Given the description of an element on the screen output the (x, y) to click on. 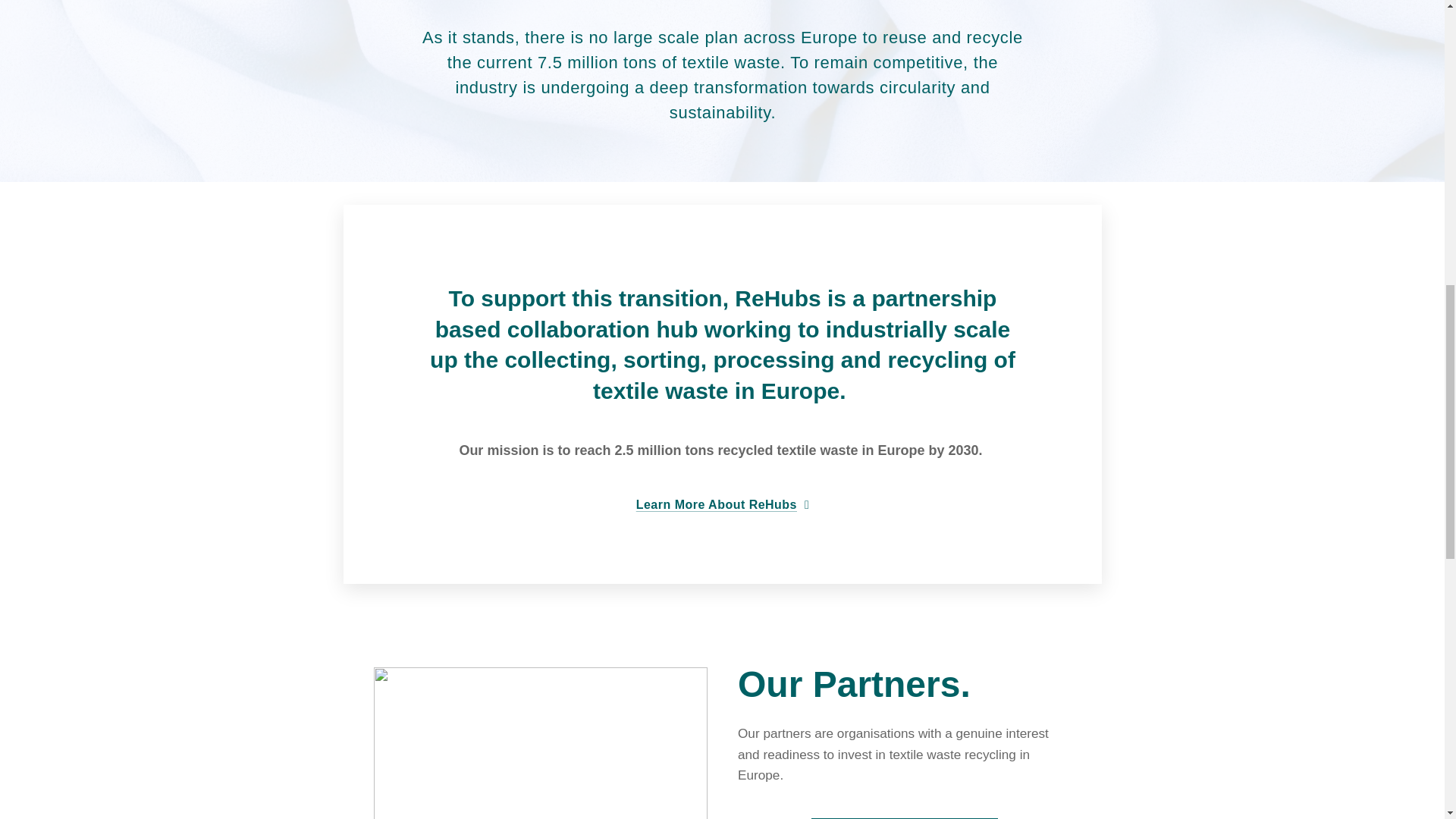
Learn More About ReHubs (721, 505)
